Given the description of an element on the screen output the (x, y) to click on. 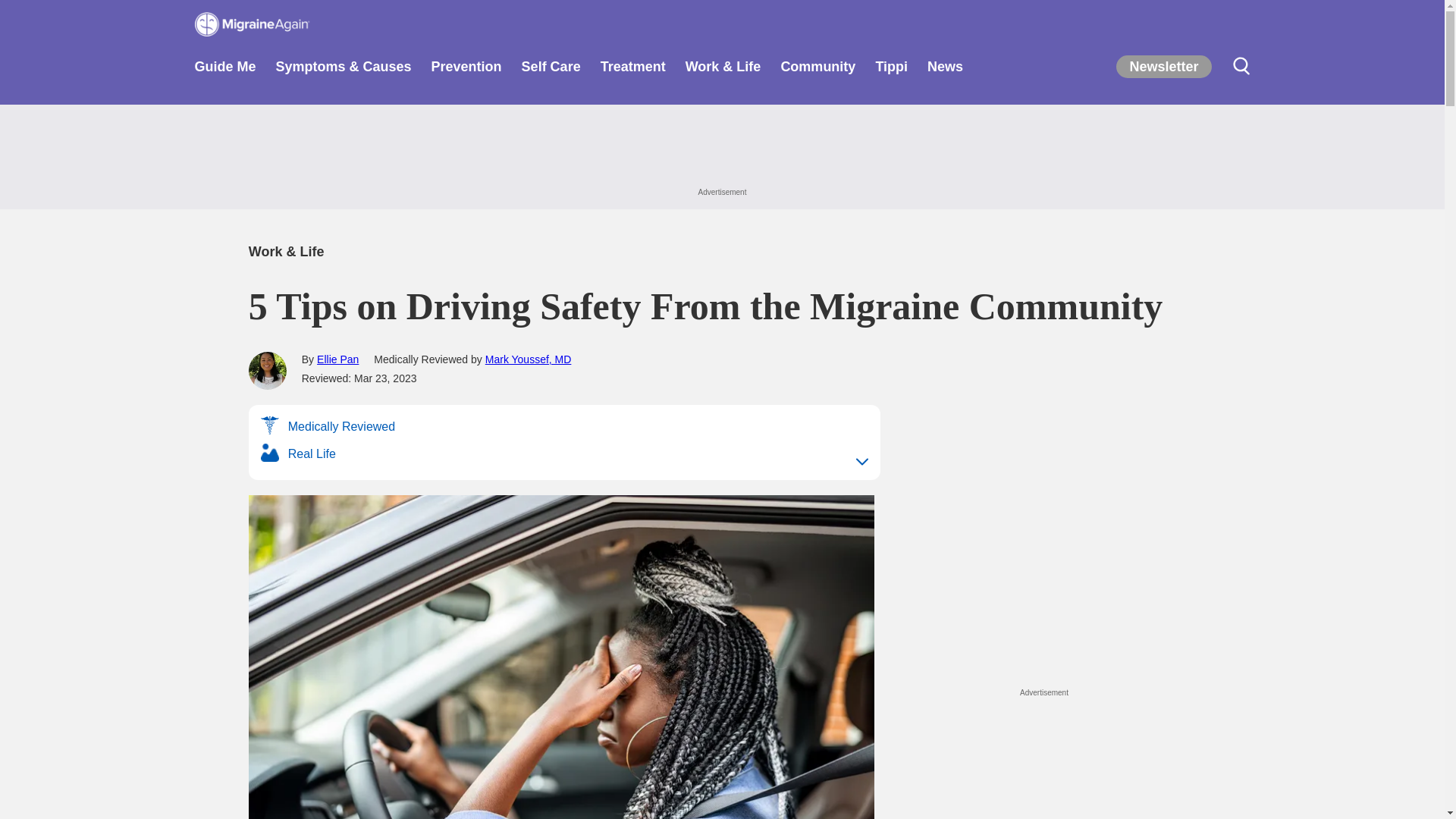
Treatment (632, 70)
Prevention (466, 70)
Community (818, 70)
Guide Me page (224, 70)
Guide Me (224, 70)
Prevention page (466, 70)
Self Care (550, 70)
Self Care page (550, 70)
